Given the description of an element on the screen output the (x, y) to click on. 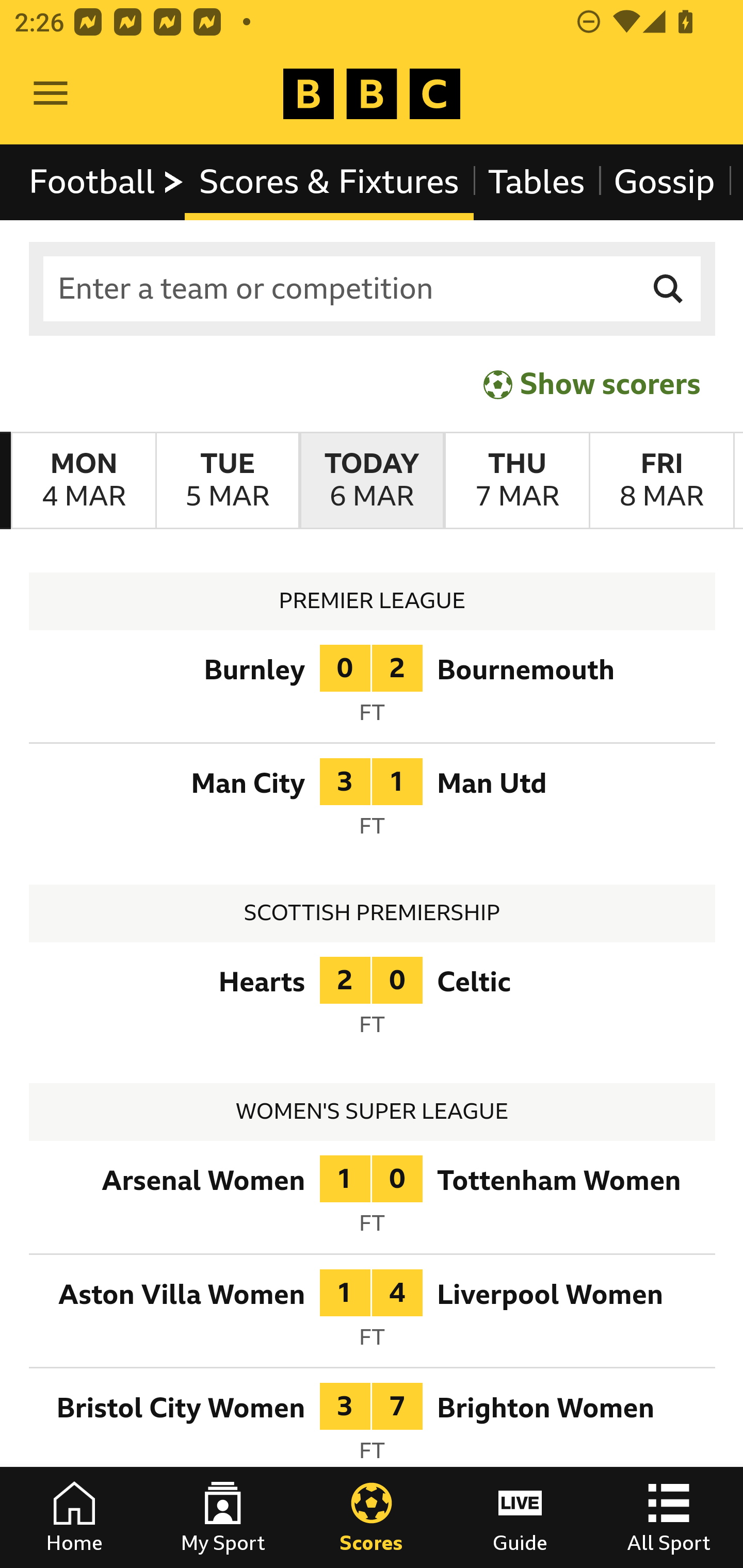
Open Menu (50, 93)
Football  (106, 181)
Scores & Fixtures (329, 181)
Tables (536, 181)
Gossip (664, 181)
Search (669, 289)
Show scorers (591, 383)
MondayMarch 4th Monday March 4th (83, 480)
TuesdayMarch 5th Tuesday March 5th (227, 480)
TodayMarch 6th Today March 6th (371, 480)
ThursdayMarch 7th Thursday March 7th (516, 480)
FridayMarch 8th Friday March 8th (661, 480)
68395538 Burnley 0 AFC Bournemouth 2 Full Time (372, 689)
68395495 Heart of Midlothian 2 Celtic 0 Full Time (372, 1002)
Home (74, 1517)
My Sport (222, 1517)
Guide (519, 1517)
All Sport (668, 1517)
